Given the description of an element on the screen output the (x, y) to click on. 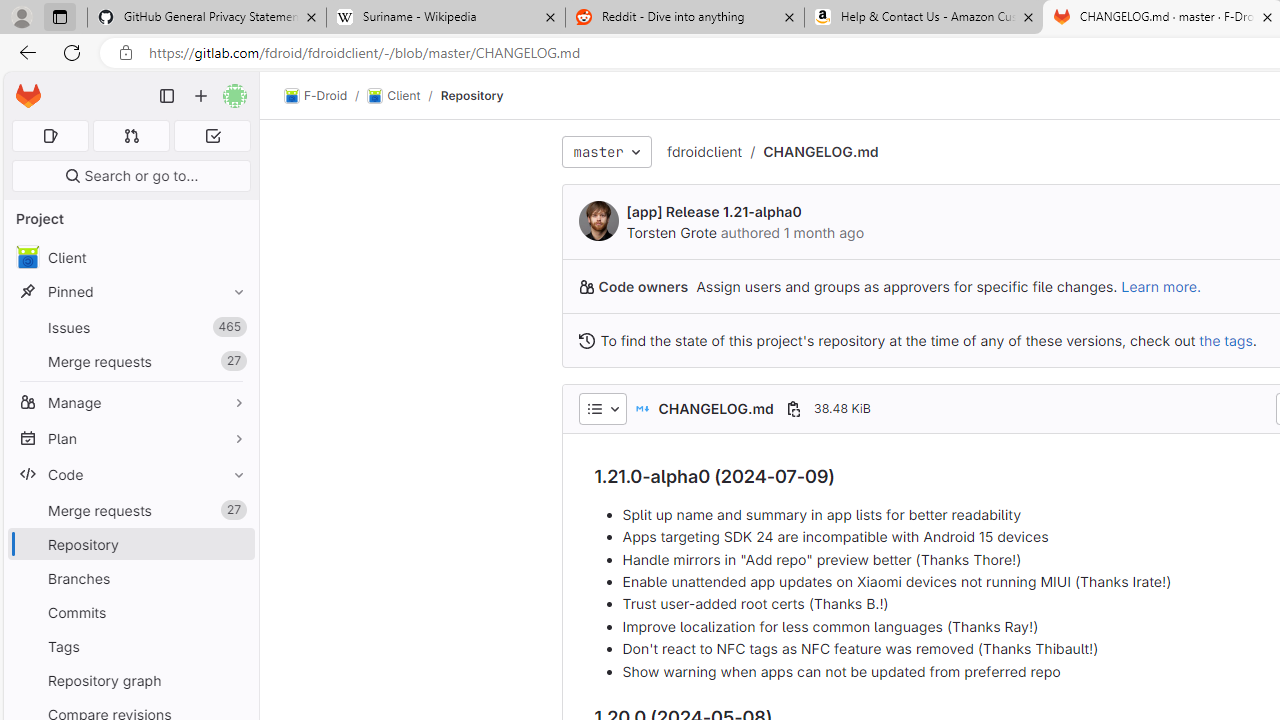
Repository graph (130, 679)
Manage (130, 402)
/CHANGELOG.md (810, 151)
CHANGELOG.md (820, 151)
avatar Client (130, 257)
Skip to main content (23, 87)
